Given the description of an element on the screen output the (x, y) to click on. 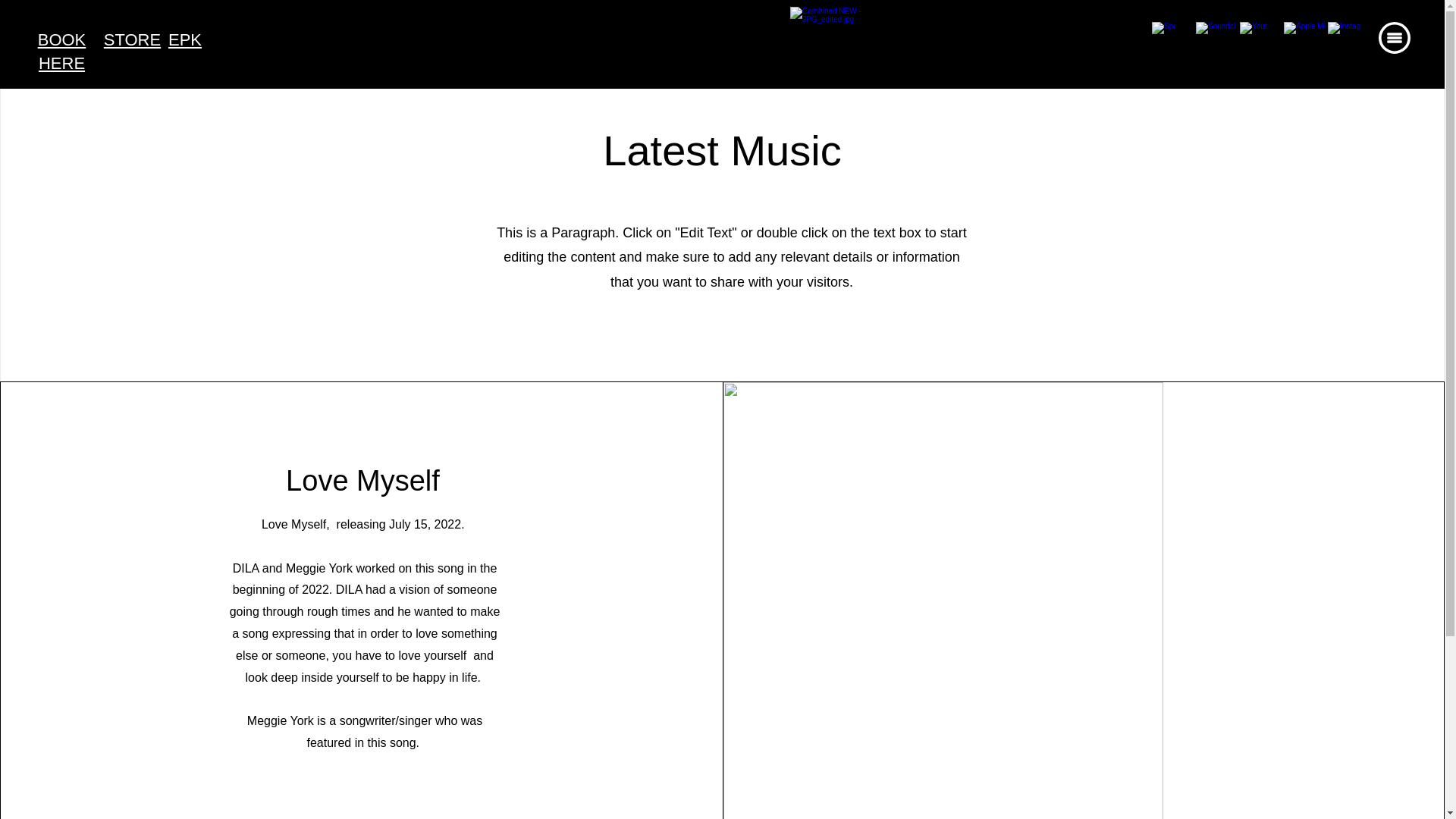
STORE (131, 39)
BOOK HERE (61, 51)
EPK (185, 39)
